Given the description of an element on the screen output the (x, y) to click on. 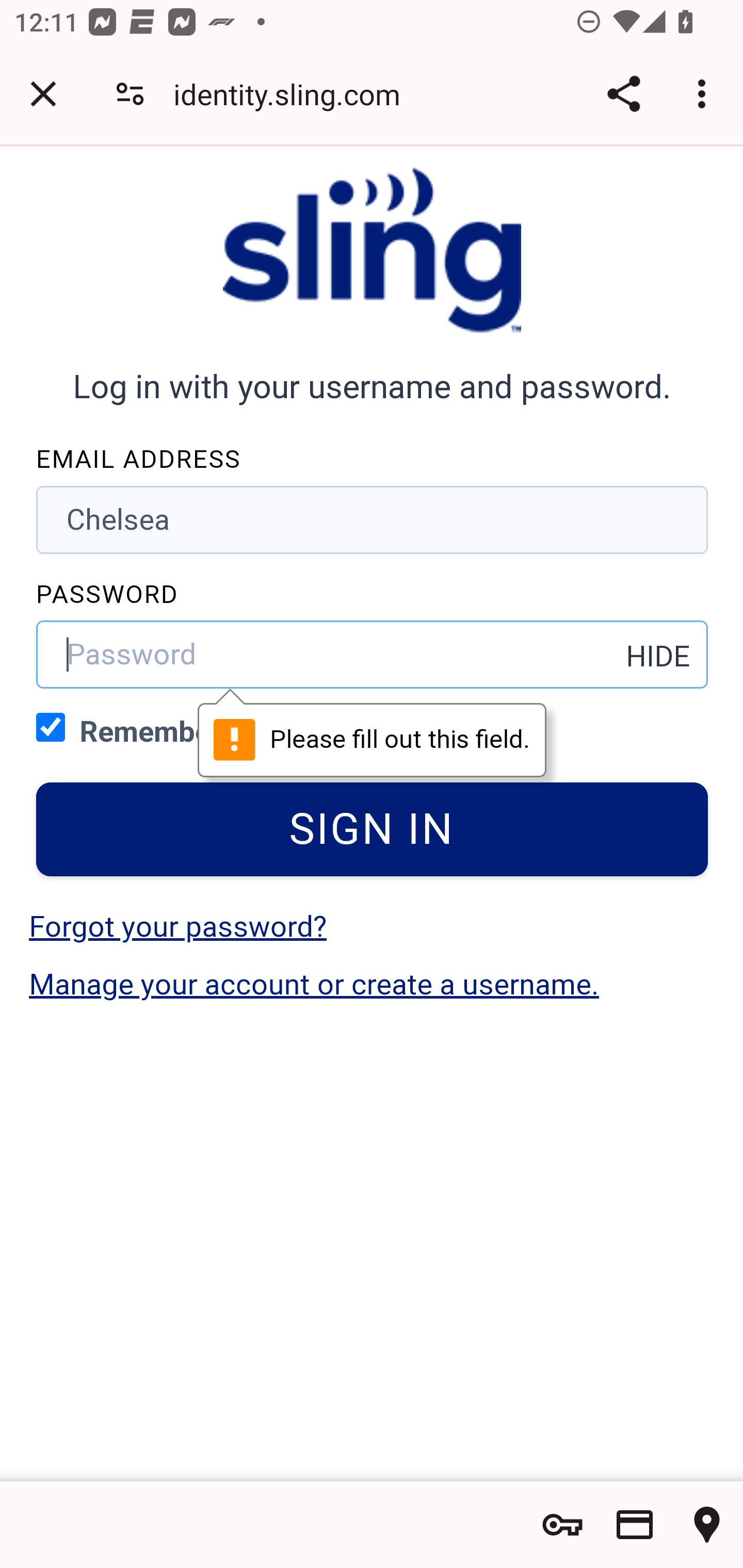
Close tab (43, 93)
Share (623, 93)
Customize and control Google Chrome (705, 93)
Connection is secure (129, 93)
identity.sling.com (294, 93)
Chelsea (372, 518)
HIDE (657, 655)
Remember Me (50, 726)
SIGN IN (372, 829)
Forgot your password? (177, 926)
Manage your account or create a username. (313, 984)
Show saved passwords and password options (562, 1524)
Show saved payment methods (634, 1524)
Show saved addresses (706, 1524)
